Given the description of an element on the screen output the (x, y) to click on. 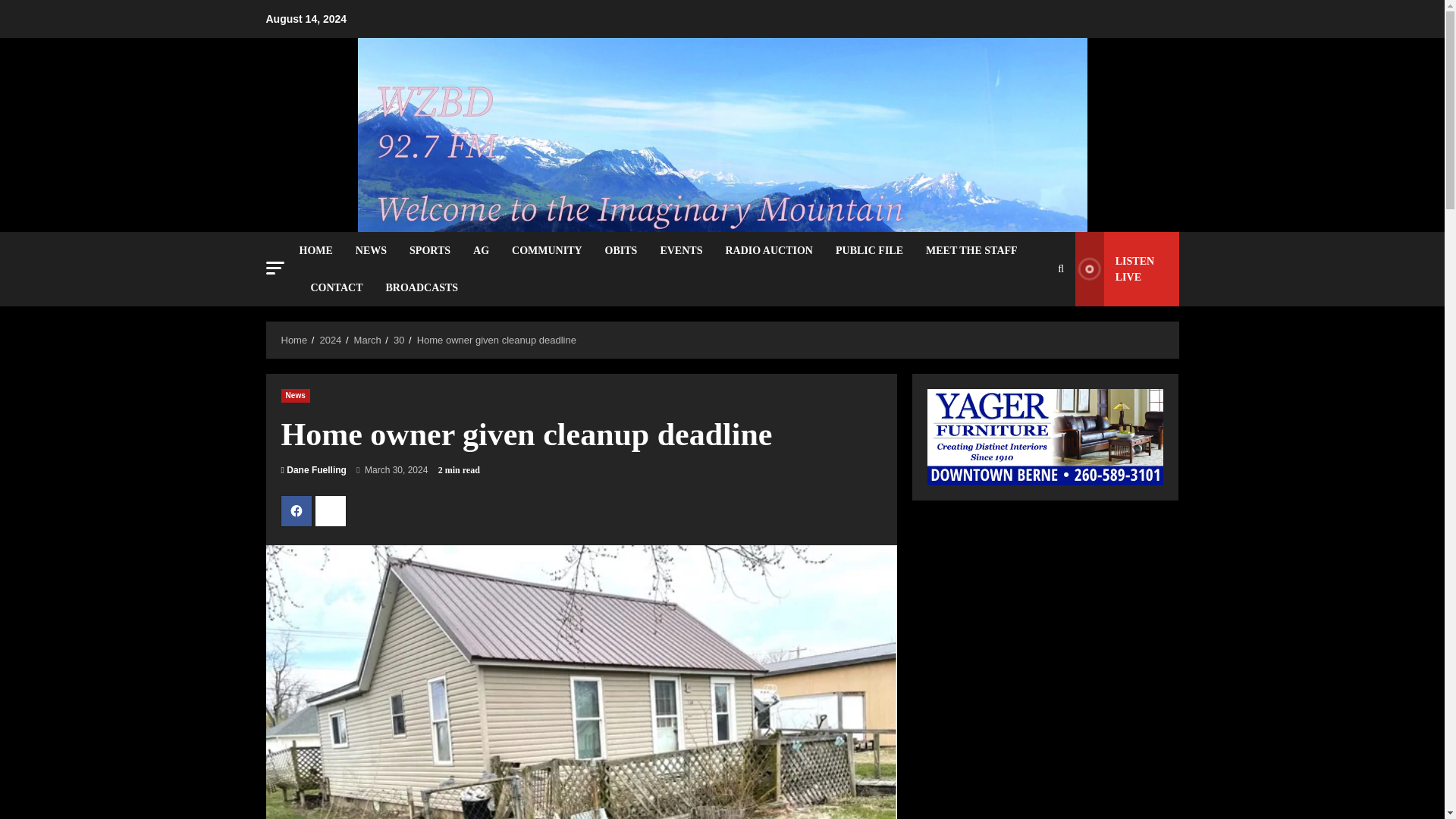
RADIO AUCTION (768, 250)
SPORTS (429, 250)
NEWS (370, 250)
CONTACT (336, 287)
PUBLIC FILE (869, 250)
Click to share on X (330, 511)
HOME (320, 250)
LISTEN LIVE (1127, 268)
News (295, 395)
Click to share on Facebook (296, 511)
